Given the description of an element on the screen output the (x, y) to click on. 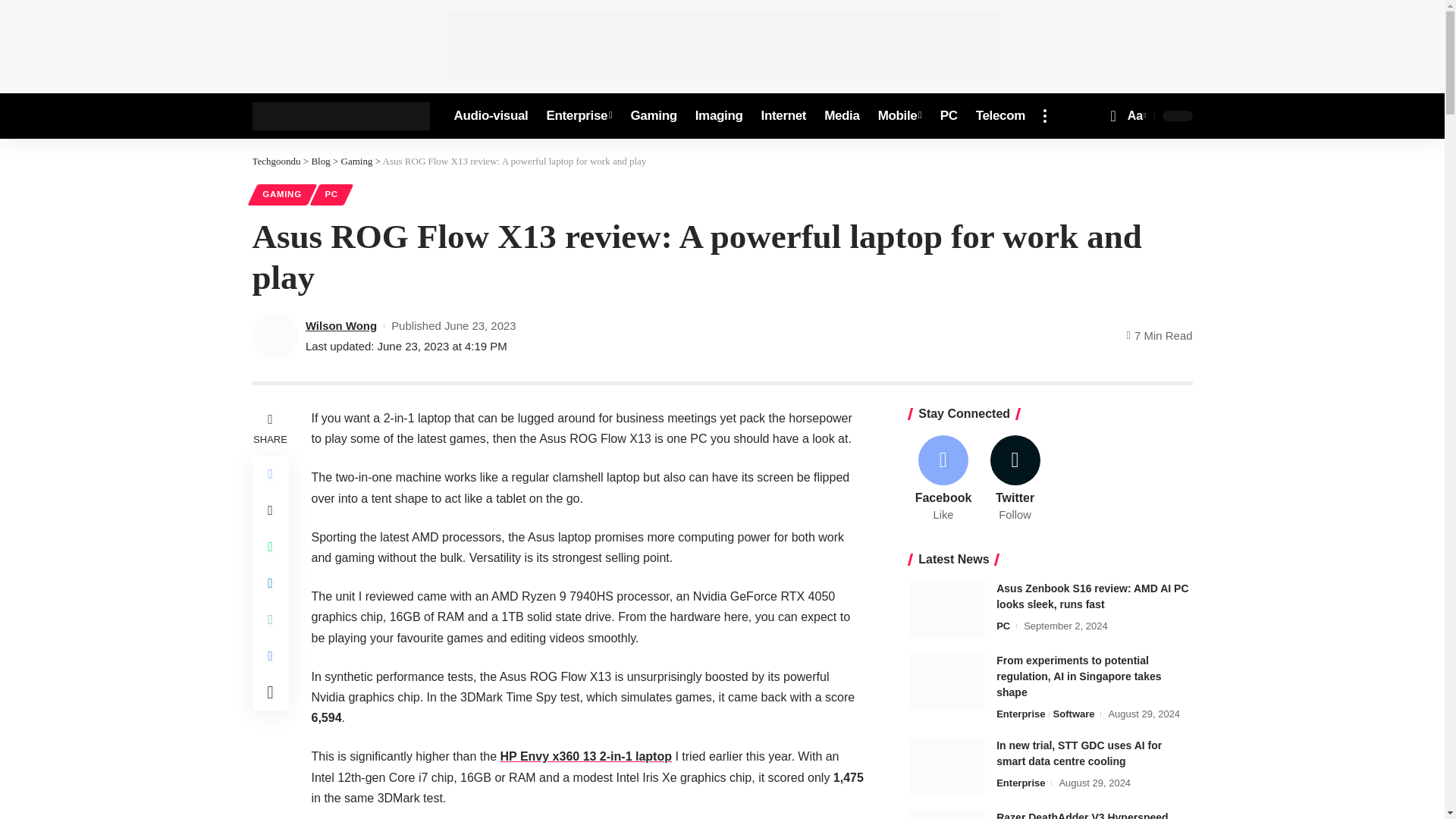
Imaging (718, 115)
Internet (783, 115)
Go to the Gaming Category archives. (356, 161)
Asus Zenbook S16 review: AMD AI PC looks sleek, runs fast (946, 609)
Gaming (653, 115)
Audio-visual (490, 115)
Mobile (900, 115)
Telecom (999, 115)
